Given the description of an element on the screen output the (x, y) to click on. 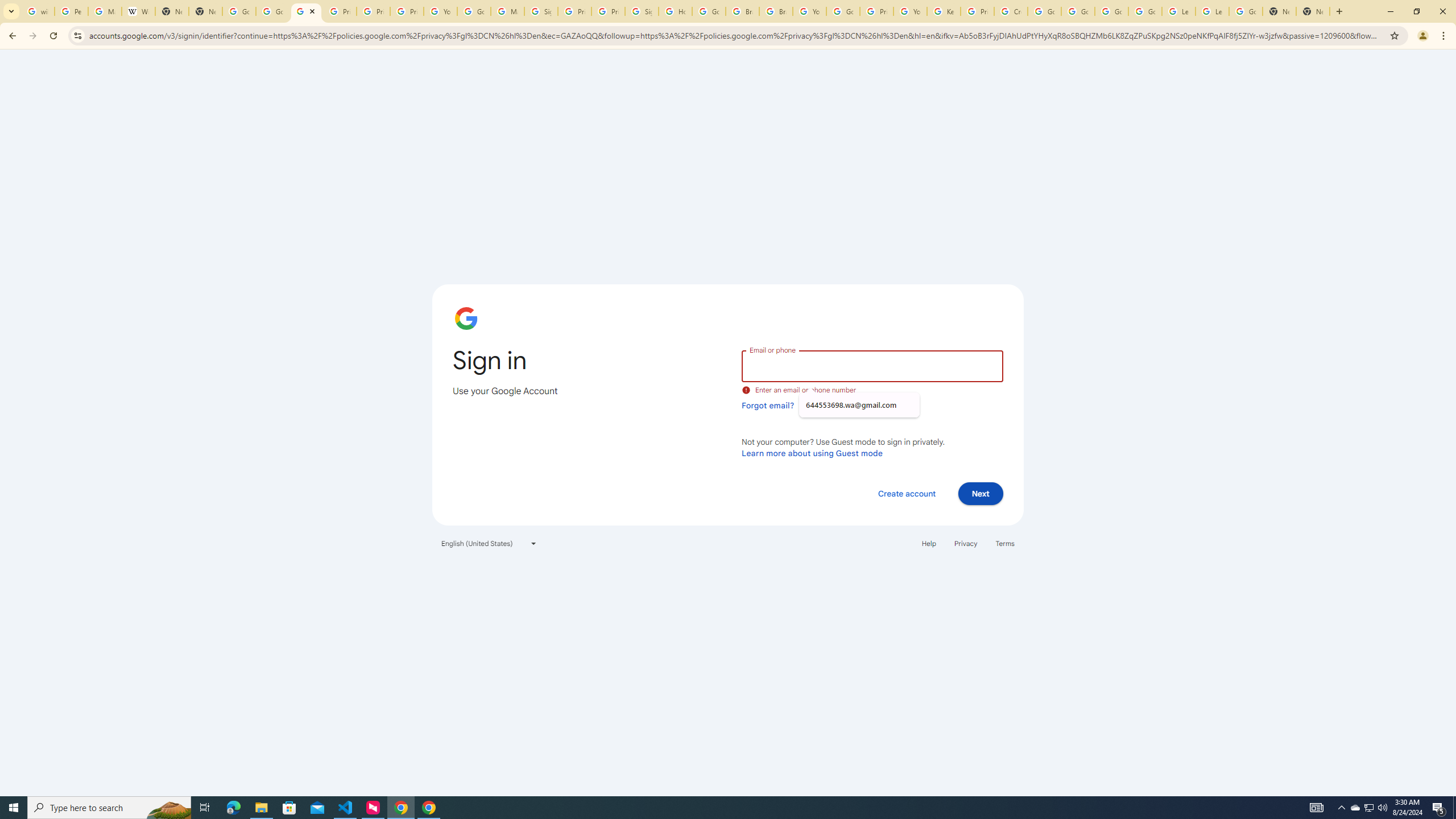
Forgot email? (767, 404)
